Given the description of an element on the screen output the (x, y) to click on. 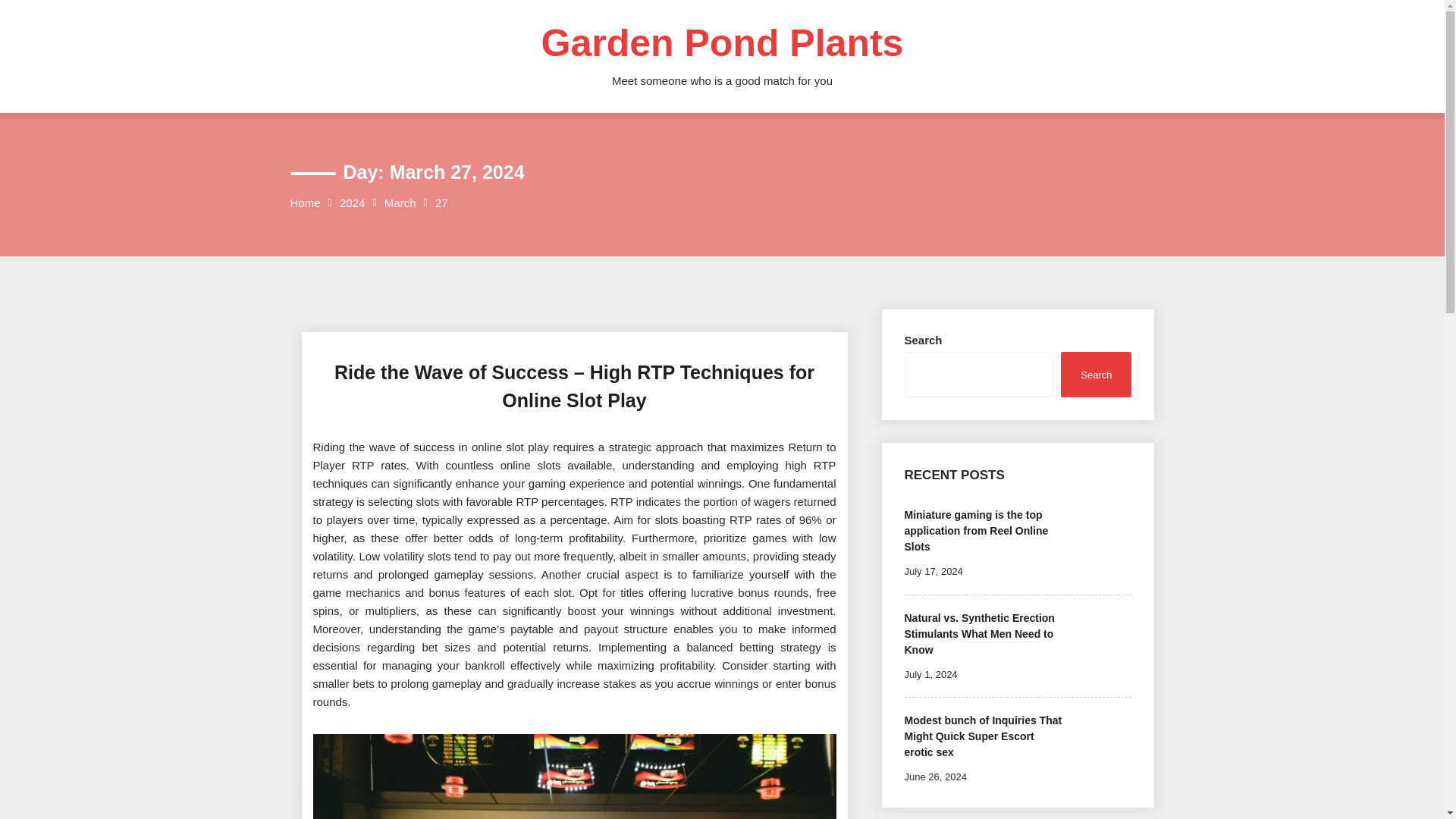
March (400, 201)
2024 (352, 201)
Home (304, 201)
Search (1096, 374)
Garden Pond Plants (722, 43)
